Given the description of an element on the screen output the (x, y) to click on. 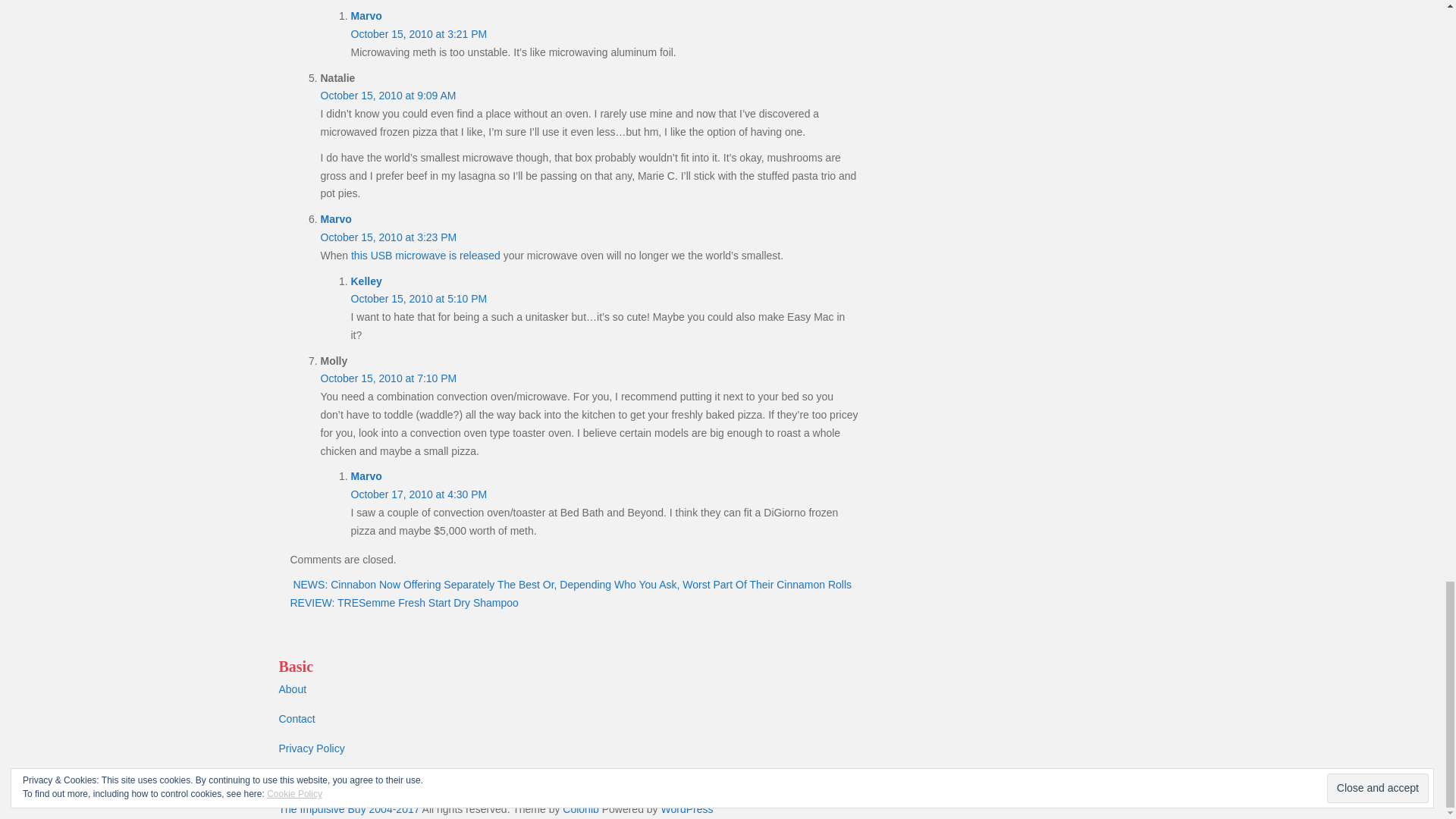
Marvo (335, 218)
Marvo (365, 15)
October 15, 2010 at 9:09 AM (387, 95)
October 15, 2010 at 3:23 PM (388, 236)
Kelley (365, 281)
October 15, 2010 at 3:21 PM (418, 33)
this USB microwave is released (425, 255)
